Given the description of an element on the screen output the (x, y) to click on. 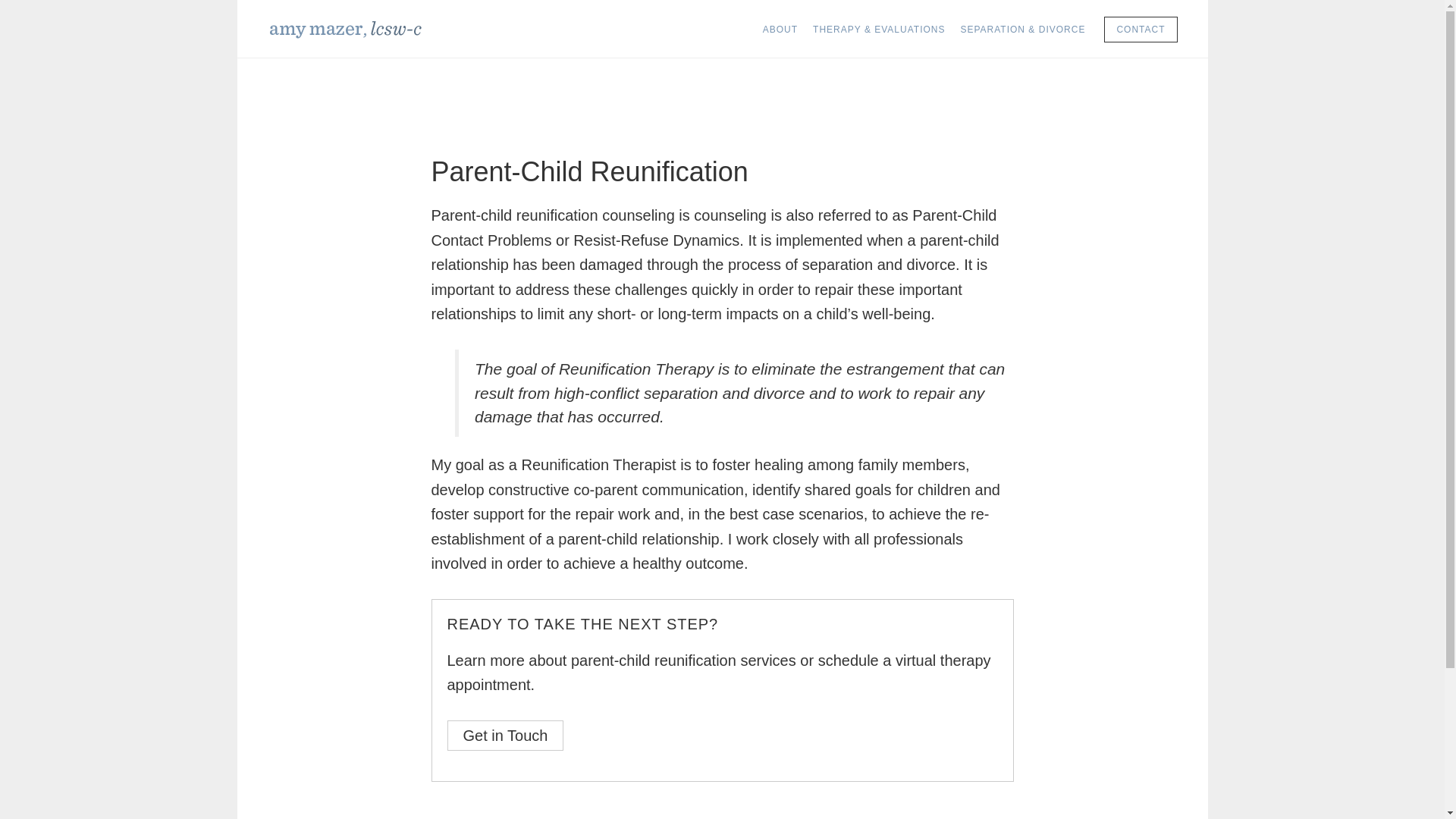
ABOUT (780, 29)
CONTACT (1139, 29)
Contact Amy (505, 735)
Get in Touch (505, 735)
AMY MAZER, LCSW-C (380, 28)
